Given the description of an element on the screen output the (x, y) to click on. 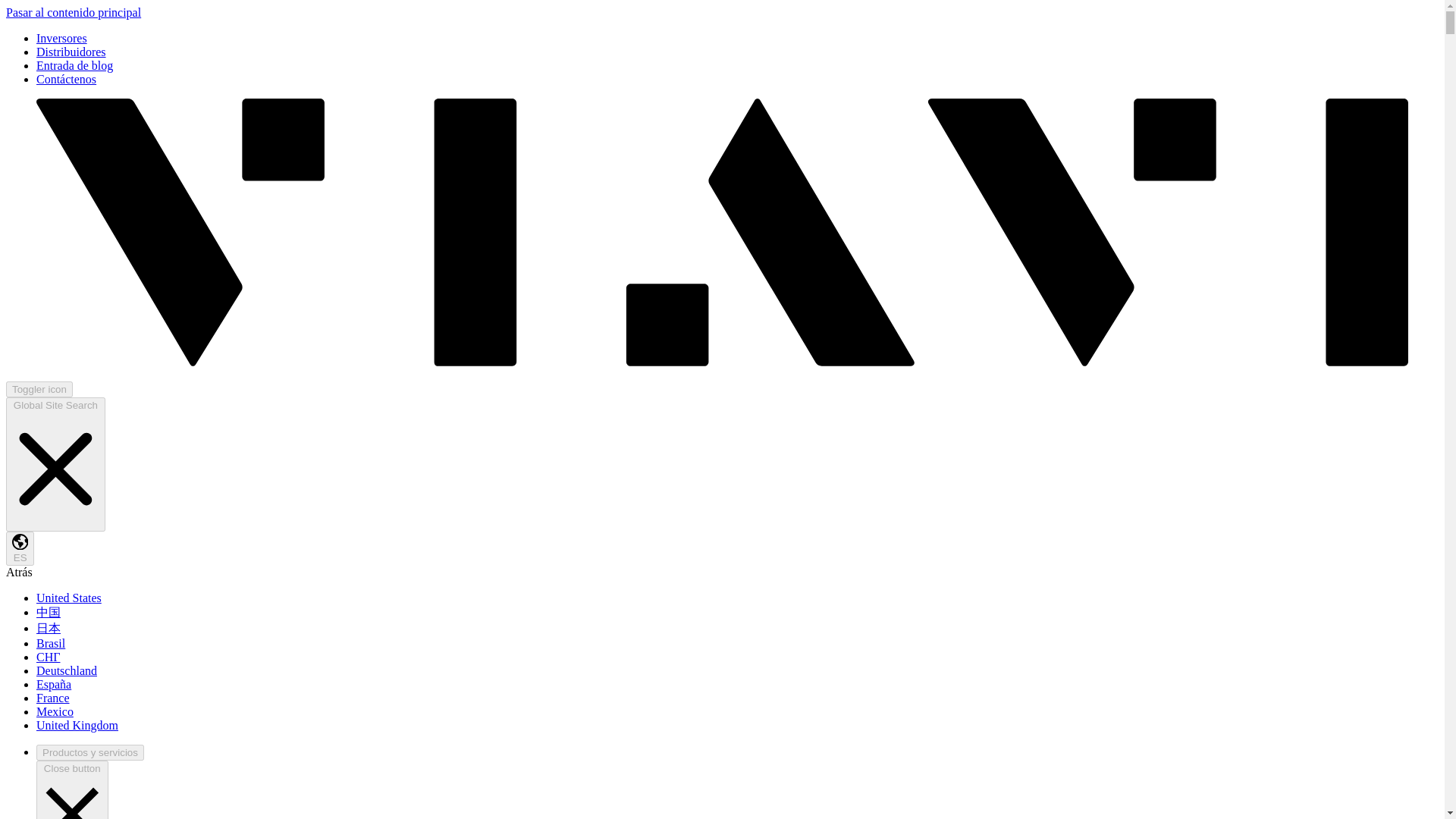
Inversores (61, 38)
Productos y servicios (90, 752)
Pasar al contenido principal (73, 11)
Entrada de blog (74, 65)
Distribuidores (71, 51)
United States (68, 597)
Global Site Search (54, 464)
Mexico (55, 711)
Toggler icon (38, 389)
Close button (71, 789)
ES (19, 548)
United Kingdom (76, 725)
